Given the description of an element on the screen output the (x, y) to click on. 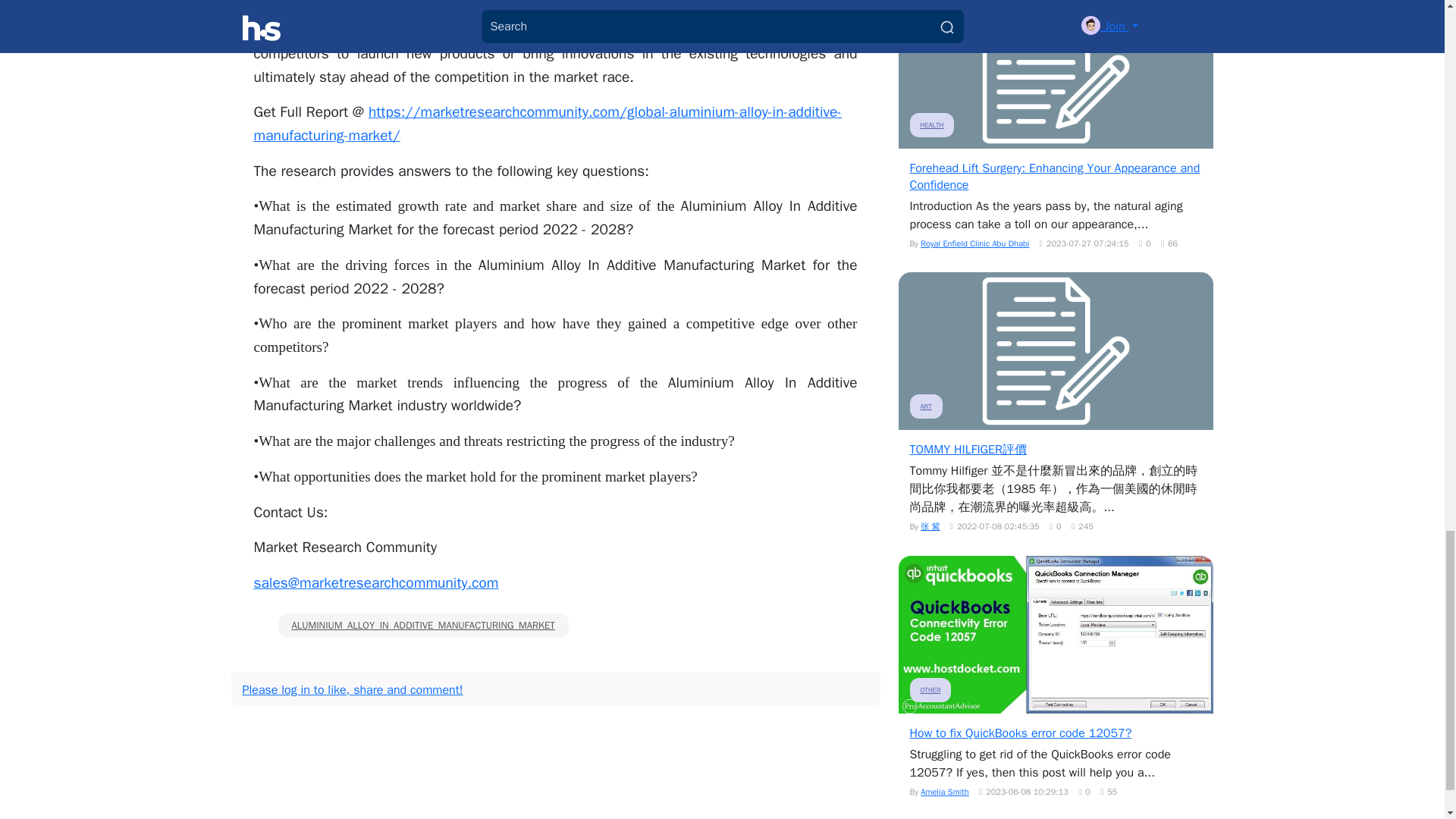
Please log in to like, share and comment! (353, 689)
